Given the description of an element on the screen output the (x, y) to click on. 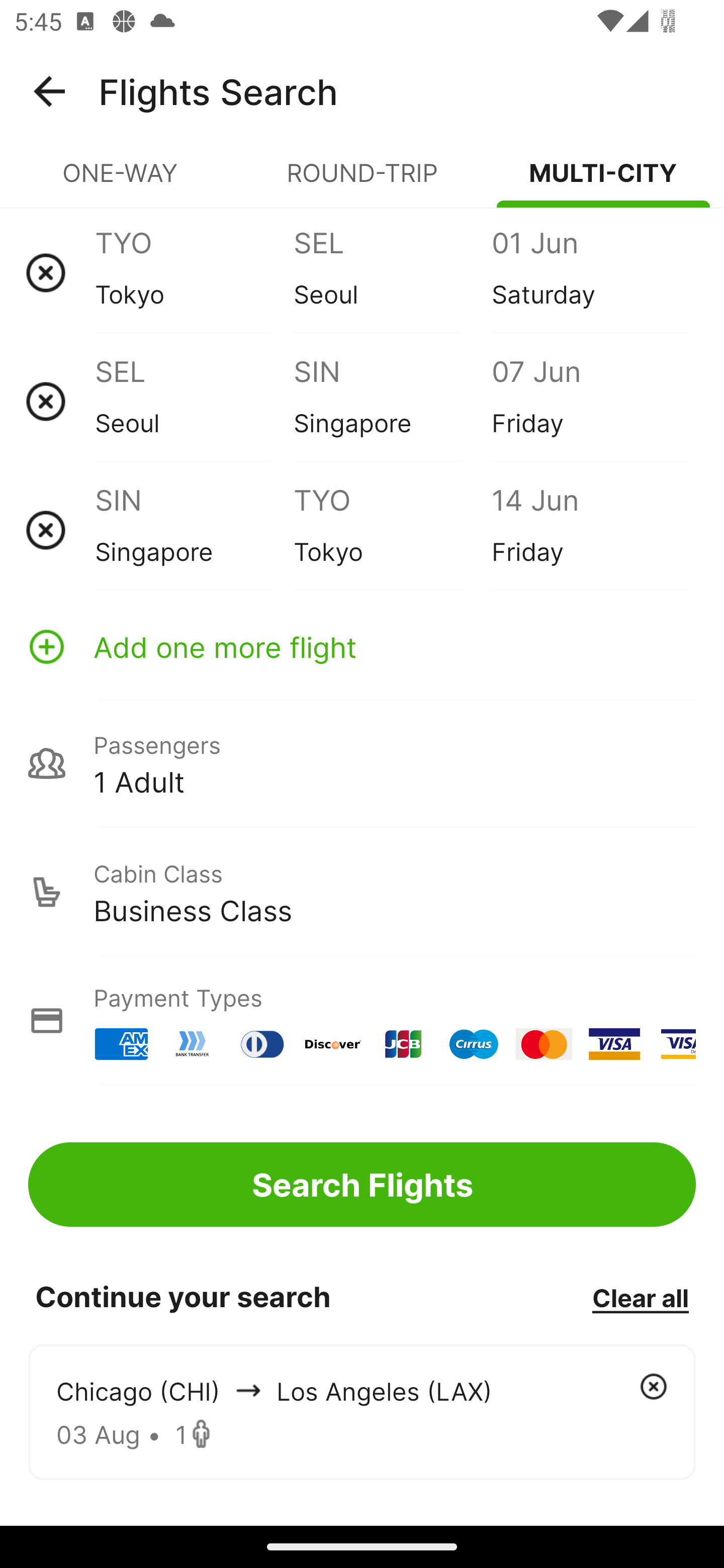
ONE-WAY (120, 180)
ROUND-TRIP (361, 180)
MULTI-CITY (603, 180)
TYO Tokyo (193, 272)
SEL Seoul (392, 272)
01 Jun Saturday (590, 272)
SEL Seoul (193, 401)
SIN Singapore (392, 401)
07 Jun Friday (590, 401)
SIN Singapore (193, 529)
TYO Tokyo (392, 529)
14 Jun Friday (590, 529)
Add one more flight (362, 646)
Passengers 1 Adult (362, 762)
Cabin Class Business Class (362, 891)
Payment Types (362, 1020)
Search Flights (361, 1184)
Clear all (640, 1297)
